Given the description of an element on the screen output the (x, y) to click on. 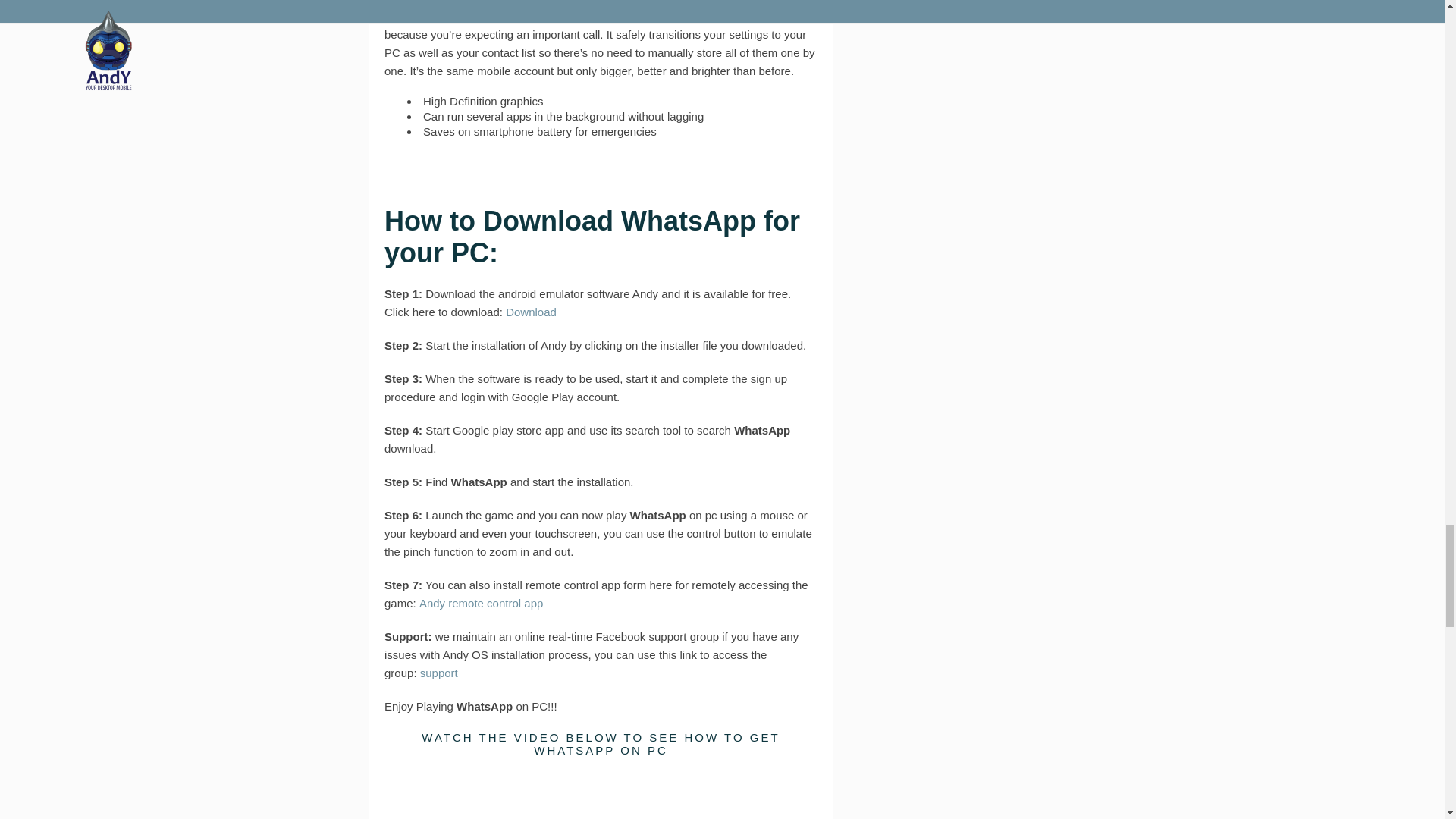
support (439, 672)
Download (530, 311)
Andy remote control app (481, 603)
